Given the description of an element on the screen output the (x, y) to click on. 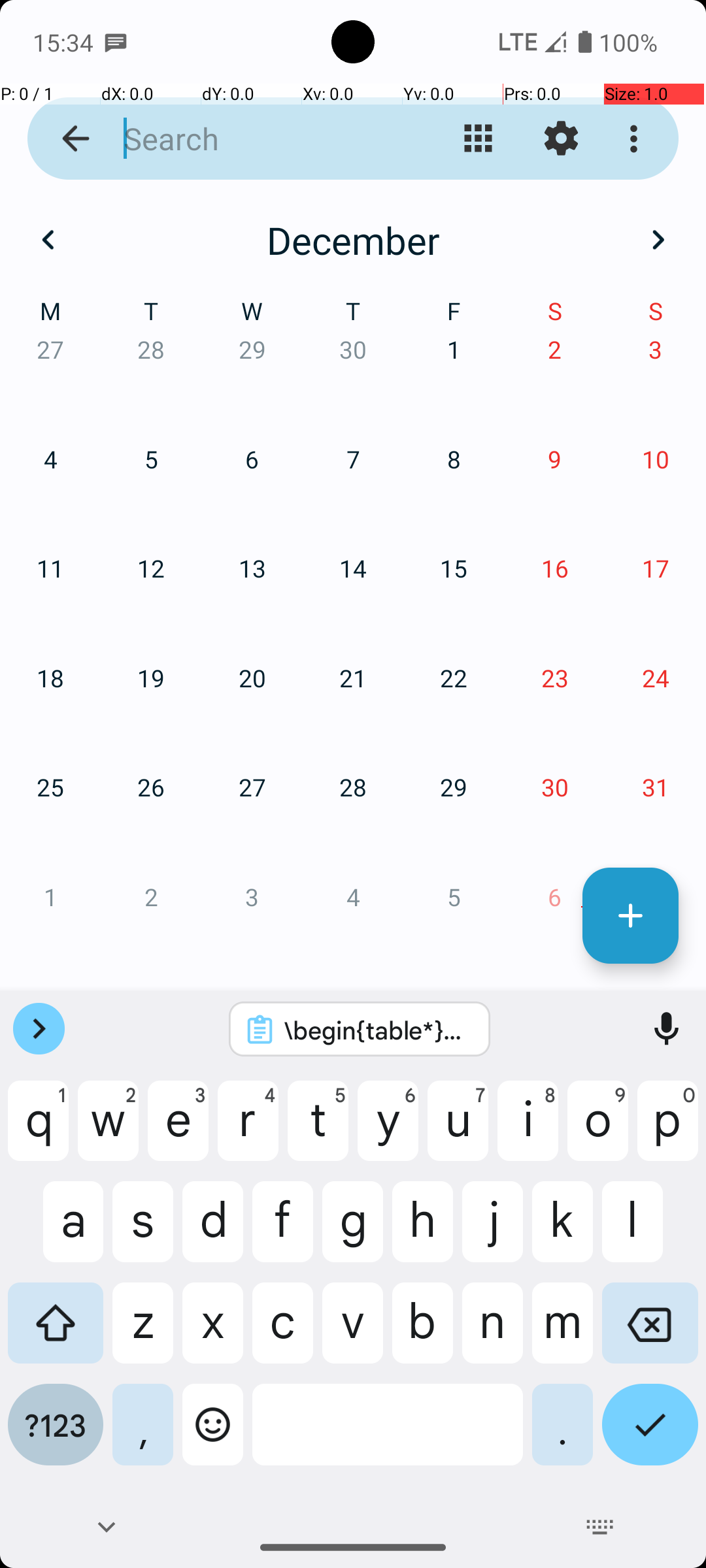
December Element type: android.widget.TextView (352, 239)
\begin{table*}[t!] \centering \renewcommand\arraystretch{1.1} \tabcolsep=0.05cm {\fontsize{10pt}{12pt}\selectfont \begin{tabular}{cccccccccc} \hline % \toprule          \multirow{2}{*}{LVLMs} & \multirow{2}{*}{\parbox{1.5cm}{\centering Model\\Size}}   & \multirow{2}{*}{\parbox{1.5cm}{\centering GUI\\Specific}} & \multicolumn{2}{c}{Mobile}        & \multicolumn{2}{c}{Desktop}       & \multicolumn{2}{c}{Web}           & \multirow{2}{*}{Average} \\ \cline{4-9}          &    &                               & Text            & Icon/Widget     & Text            & Icon/Widget     & Text            & Icon/Widget     &                          \\  % \midrule \hline MiniGPT-v2     & 7B   & \textcolor{darkred}{\ding{55}}                              &  8.4\%               & 6.6\%                & 6.2\%                & 2.9\%                & 6.5\%                & 3.4\%                & 5.7\%                         \\ Qwen-VL  & 9.6B   & \textcolor{darkred}{\ding{55}}                             & 9.5\%           & 4.8\%           & 5.7\%           & 5.0\%           & 3.5\%           & 2.4\%           & 5.2\%                    \\  GPT-4V   & -    & \textcolor{darkred}{\ding{55}}     & 22.6\%    & 24.5\%    & 20.2\%    & 11.8\%    &9.2\%  & 8.8\%     & 16.2\% \\ \hline Fuyu     & 8B   & \textcolor{darkgreen}{\ding{51}}                               & 41.0\%          & 1.3\%           & 33.0\%          & 3.6\%           & 33.9\%          & 4.4\%           & 19.5\%                   \\ CogAgent & 18B   & \textcolor{darkgreen}{\ding{51}}                               & 67.0\%          & 24.0\%          & \textbf{74.2\%} & 20.0\%          & \textbf{70.4\%} & 28.6\% & 47.4\%                   \\ \seek & 9.6B   & \textcolor{darkgreen}{\ding{51}}                              & \textbf{78.0\%} & \textbf{52.0\%} & 72.2\%          & \textbf{30.0\%} & 55.7\%          & \textbf{32.5\%} & \textbf{53.4\%}          \\  \hline % \bottomrule \end{tabular} } \caption{Results of different LVLMs on \seesp. The best results in each column are highlighted in \textbf{bold}. Benefiting from efficient GUI grounding pre-training, \seek significantly enhanced LVLMs' ability to locate GUI elements following instructions, and surpassed the strong baseline CogAgent with a smaller model size.} \label{tab:screenspot} \vspace{-1.0em} \end{table*} Element type: android.widget.TextView (376, 1029)
